Given the description of an element on the screen output the (x, y) to click on. 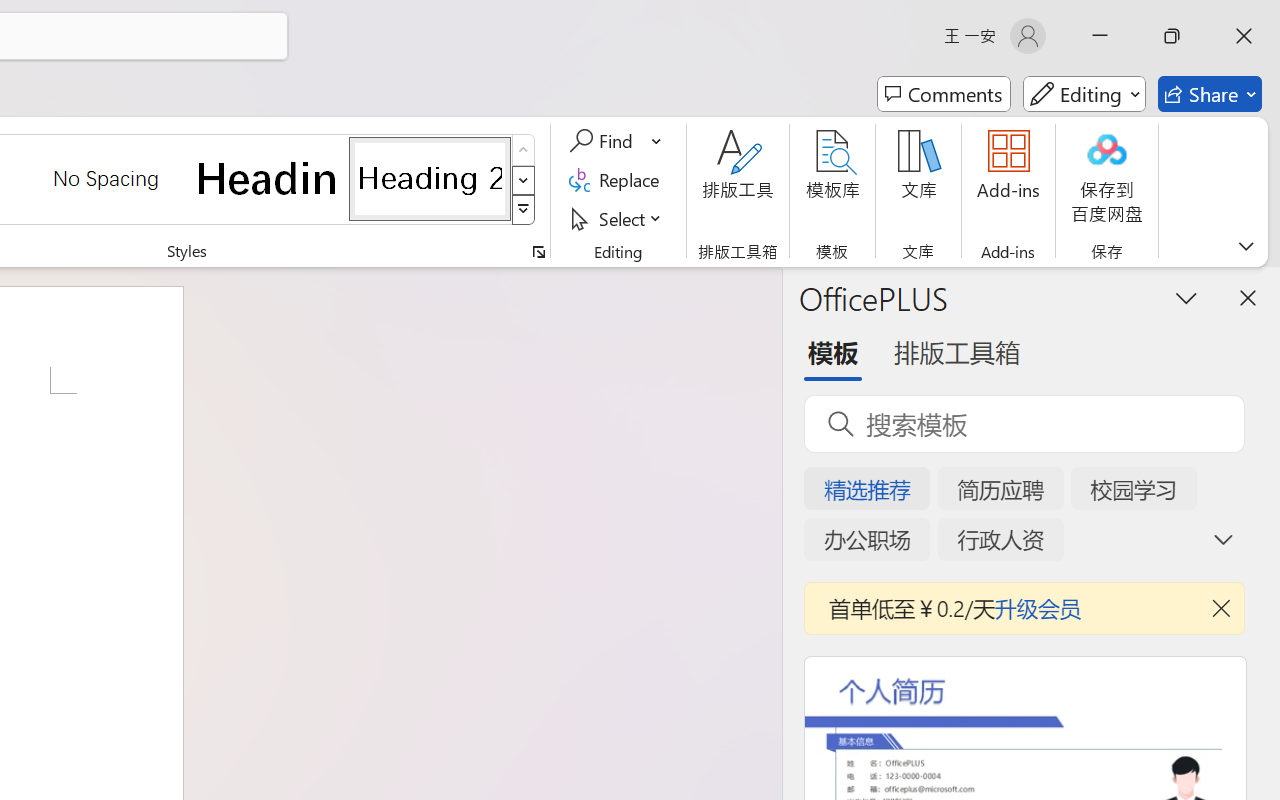
Cancel (1192, 386)
Title TextBox (509, 429)
Post comment (Ctrl + Enter) (1146, 386)
Translator (1260, 201)
Start a conversation (1085, 330)
